Given the description of an element on the screen output the (x, y) to click on. 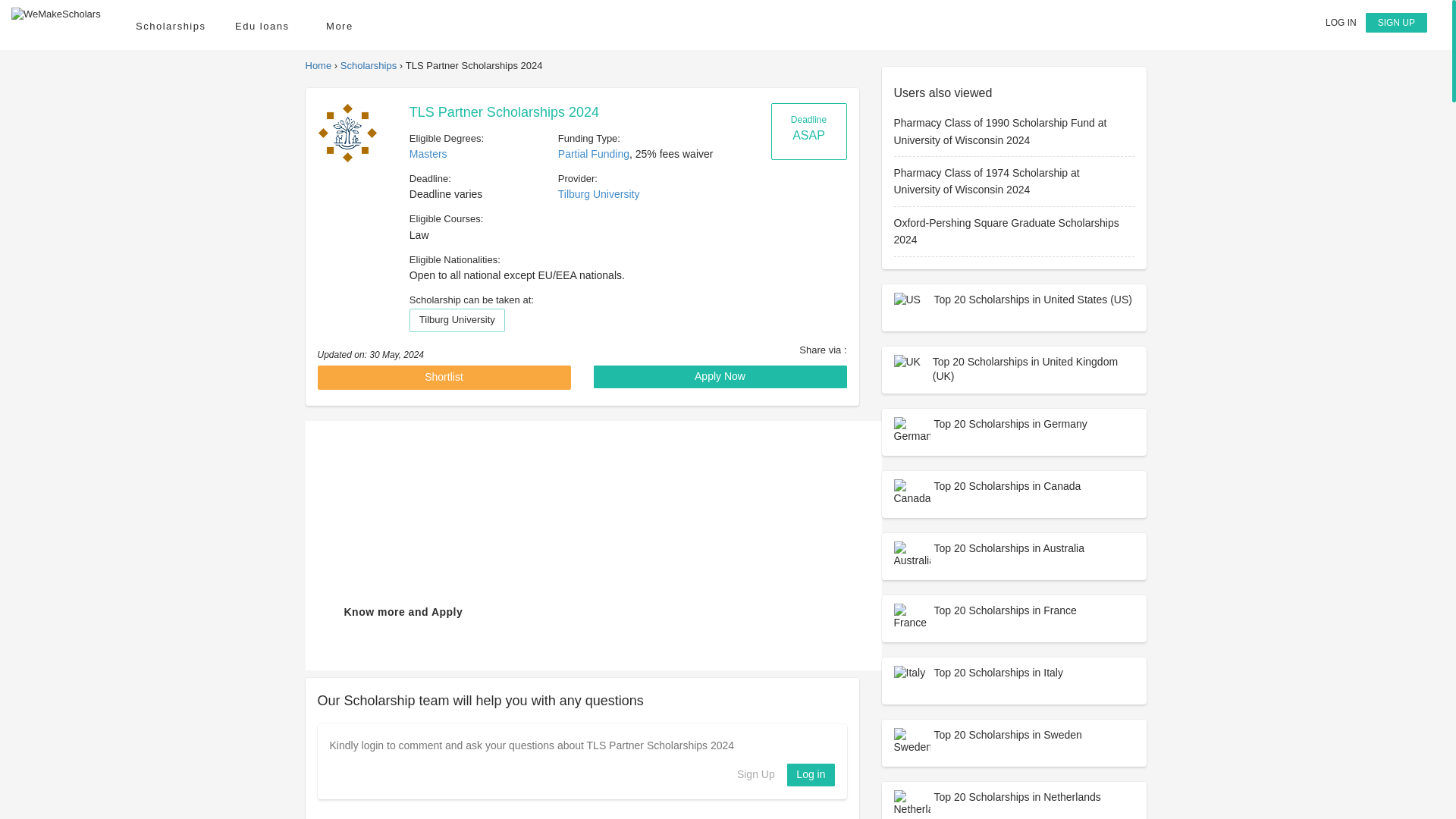
Partial Funding Scholarships (592, 153)
Edu loans (265, 25)
SIGN UP (1395, 22)
Share via : (822, 349)
Login to view Universities, Scholarship, internship abroad (1340, 22)
Home (318, 65)
Masters (427, 153)
WeMakeScholars (55, 14)
Tilburg University (598, 193)
More (343, 25)
Scholarships (170, 25)
Shortlist (443, 377)
